Given the description of an element on the screen output the (x, y) to click on. 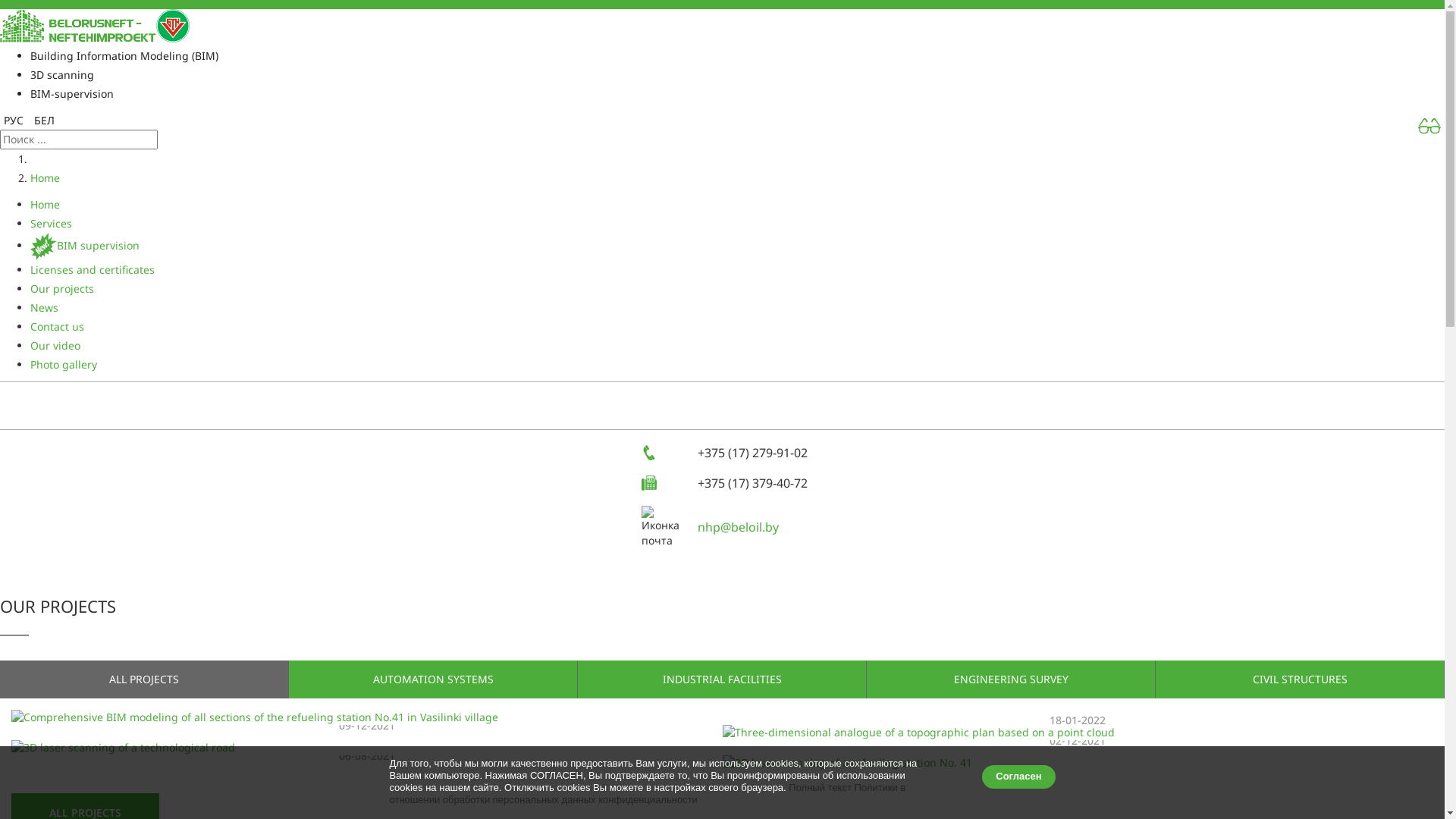
Our video Element type: text (55, 345)
Home Element type: text (44, 177)
Licenses and certificates Element type: text (92, 269)
3D scanning Element type: text (62, 74)
News Element type: text (44, 307)
Home Element type: text (44, 204)
BIM-supervision Element type: text (71, 93)
3D laser scanning of a refueling station No. 41  Element type: hover (1077, 762)
Services Element type: text (51, 223)
BIM supervision Element type: text (84, 245)
Building Information Modeling (BIM) Element type: text (124, 55)
Our projects Element type: text (62, 288)
nhp@beloil.by Element type: text (737, 526)
3D laser scanning of a technological road Element type: hover (366, 747)
Homepage Belorusneft-Neftehimproekt Element type: hover (94, 24)
Photo gallery Element type: text (63, 364)
Contact us Element type: text (57, 326)
